Given the description of an element on the screen output the (x, y) to click on. 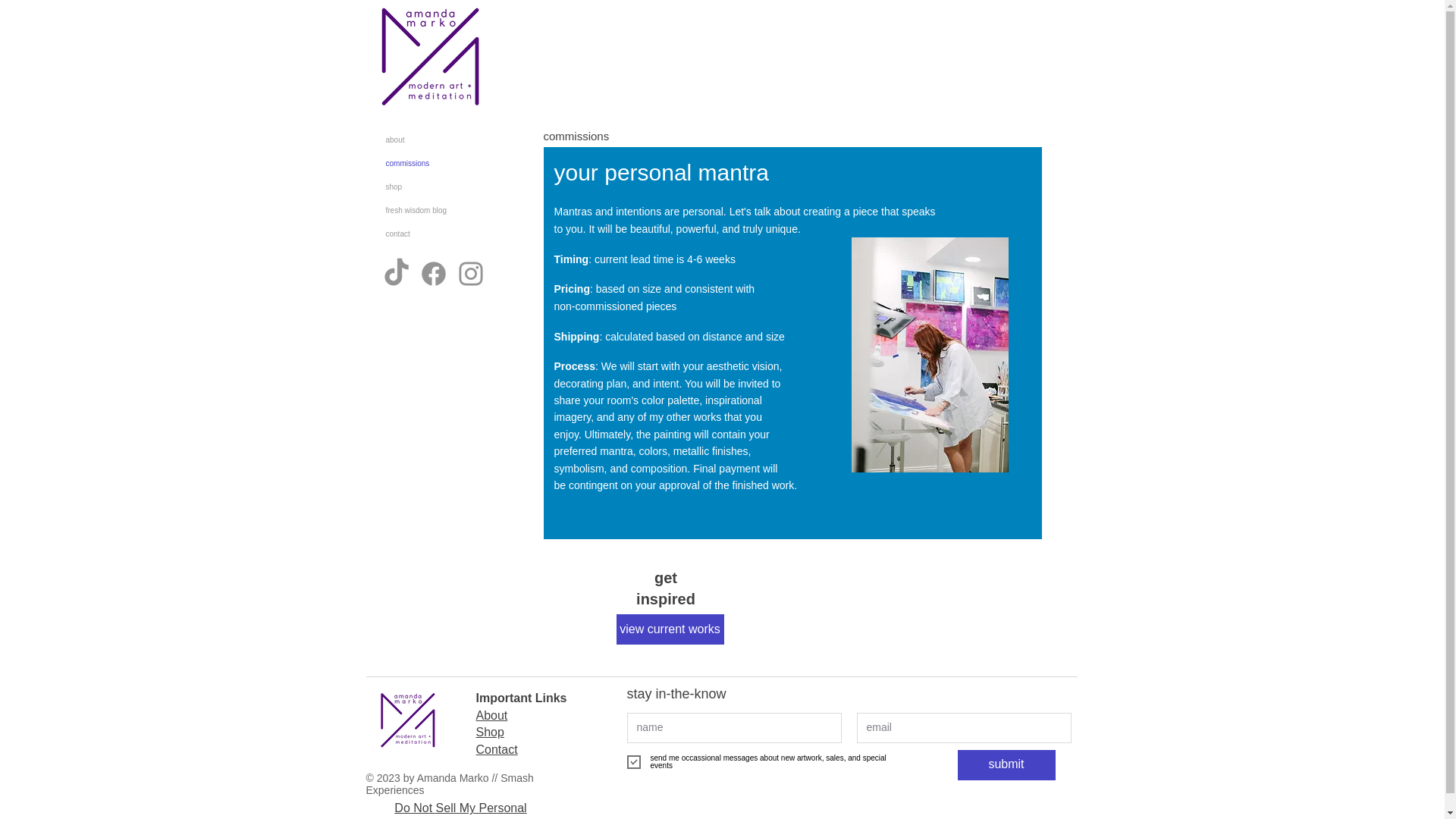
view current works (669, 629)
submit (1005, 765)
Shop (489, 731)
fresh wisdom blog (434, 210)
About (492, 715)
Contact (497, 748)
shop (434, 187)
contact (434, 233)
about (434, 139)
commissions (434, 163)
